Given the description of an element on the screen output the (x, y) to click on. 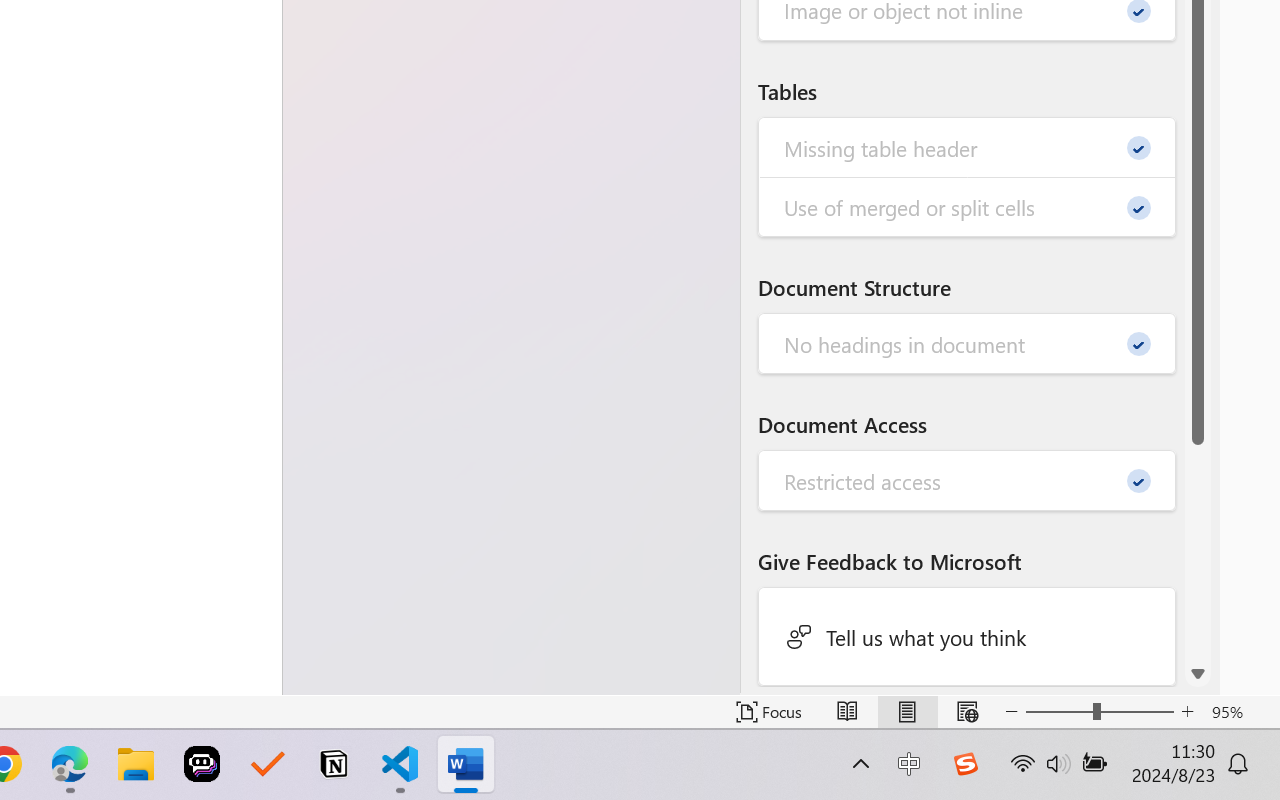
Page down (1197, 552)
Line down (1197, 673)
Use of merged or split cells - 0 (967, 206)
Restricted access - 0 (967, 480)
No headings in document - 0 (967, 343)
Missing table header - 0 (967, 147)
Tell us what you think - 1 (967, 636)
